Given the description of an element on the screen output the (x, y) to click on. 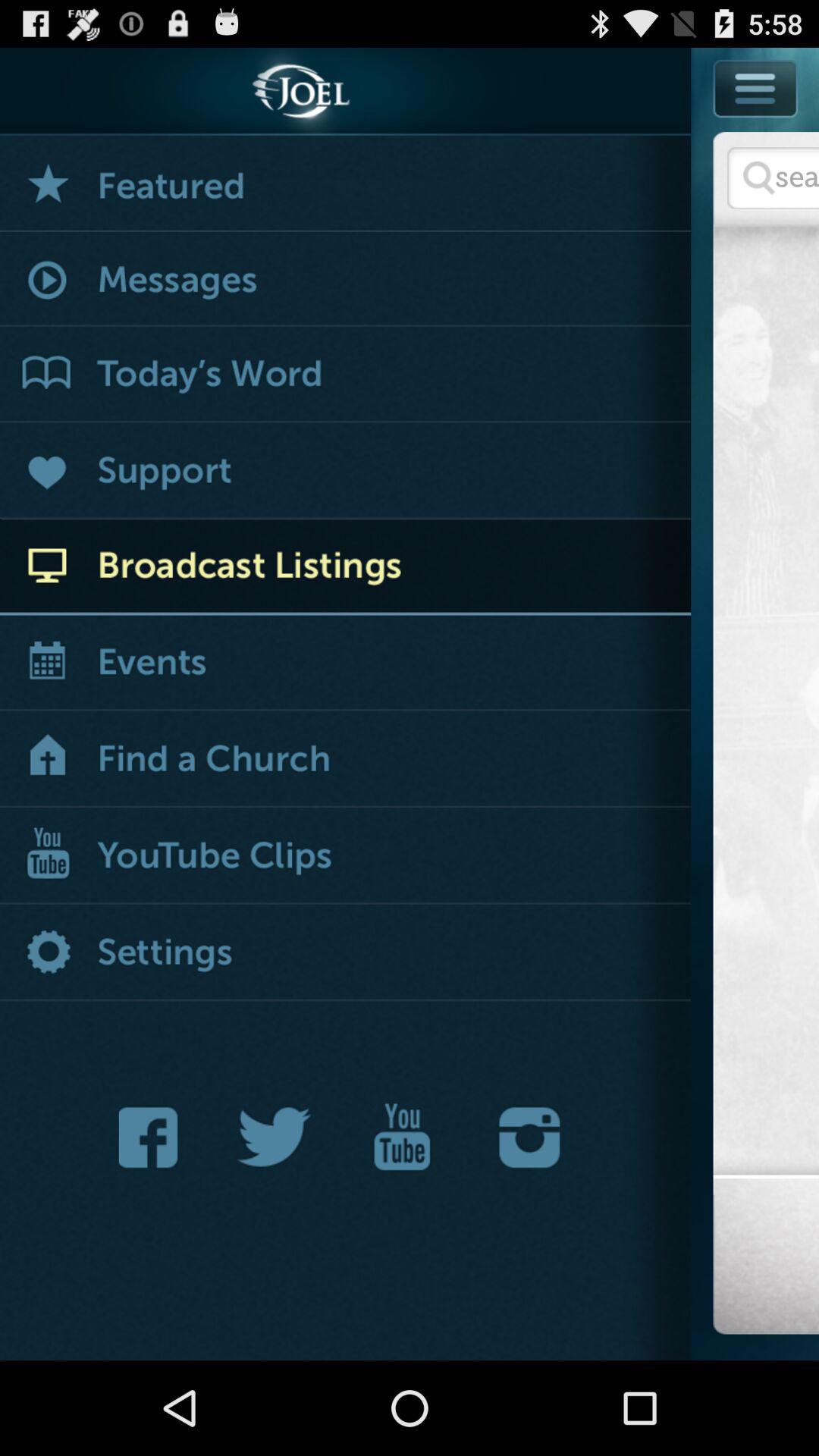
go to settings page (345, 953)
